Given the description of an element on the screen output the (x, y) to click on. 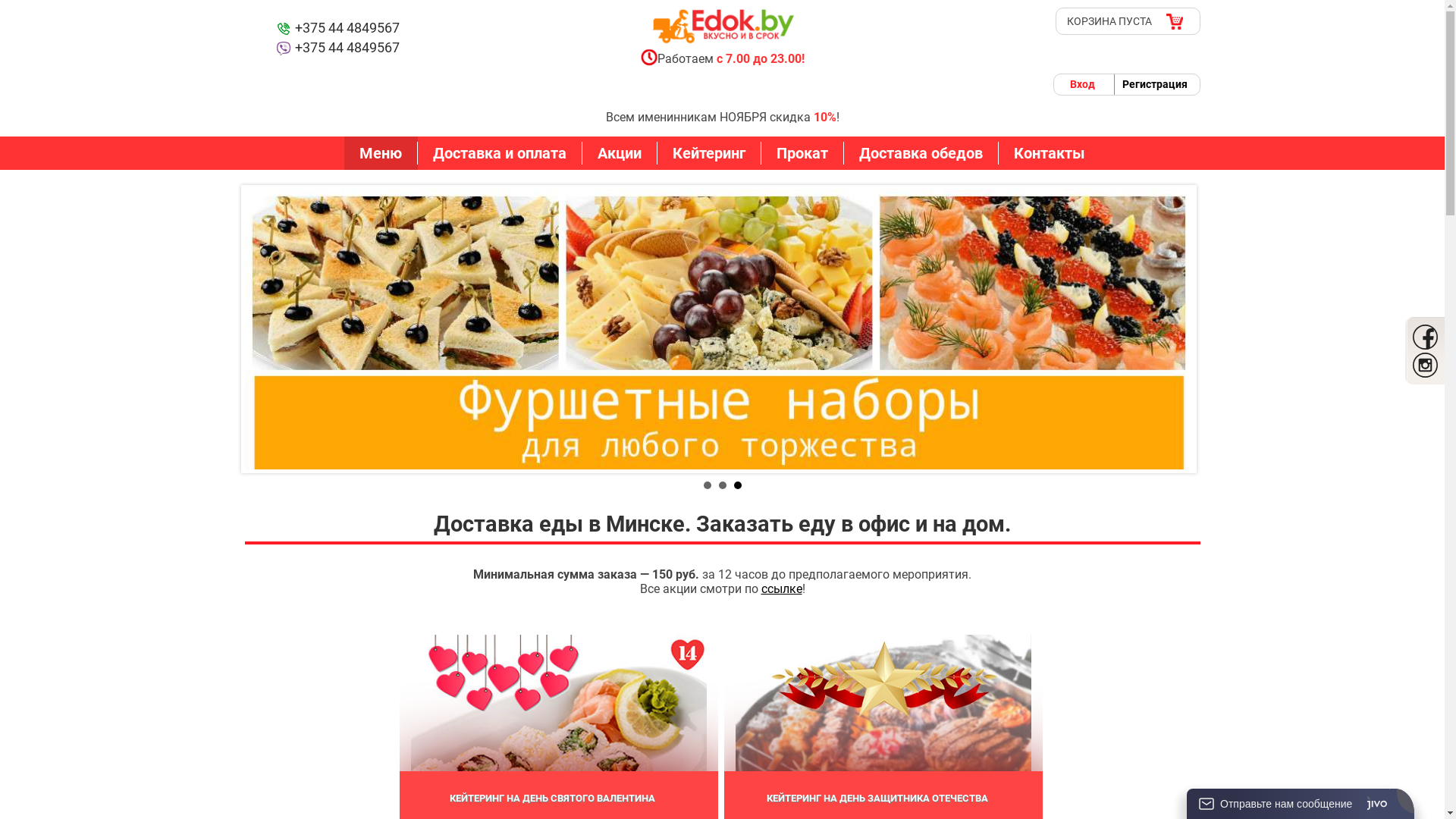
Follow me Instagram Element type: hover (1424, 364)
Follow me Facebook Element type: hover (1424, 336)
+375 44 4849567 Element type: text (336, 48)
2 Element type: text (722, 485)
1 Element type: text (707, 485)
3 Element type: text (737, 485)
+375 44 4849567 Element type: text (336, 28)
